Given the description of an element on the screen output the (x, y) to click on. 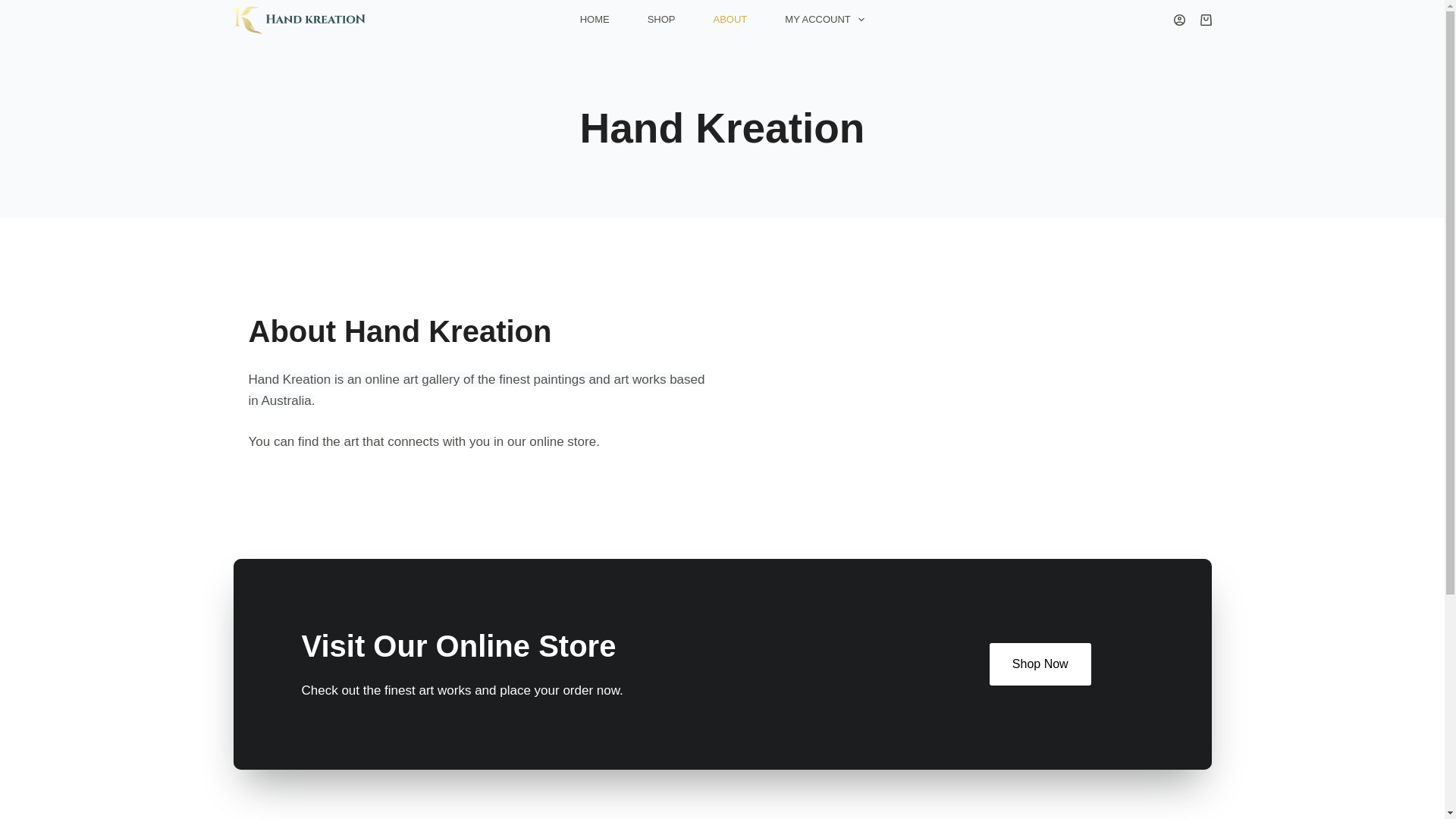
Instagram (515, 637)
ABOUT (730, 19)
Privacy Policy (781, 637)
SHOP (661, 19)
Facebook (514, 658)
Shop Now (1040, 663)
HOME (594, 19)
Skip to content (15, 7)
FAQs (249, 701)
Blog (245, 658)
Contact Us (264, 680)
MY ACCOUNT (824, 19)
About Us (259, 637)
All Paintings (521, 680)
